Given the description of an element on the screen output the (x, y) to click on. 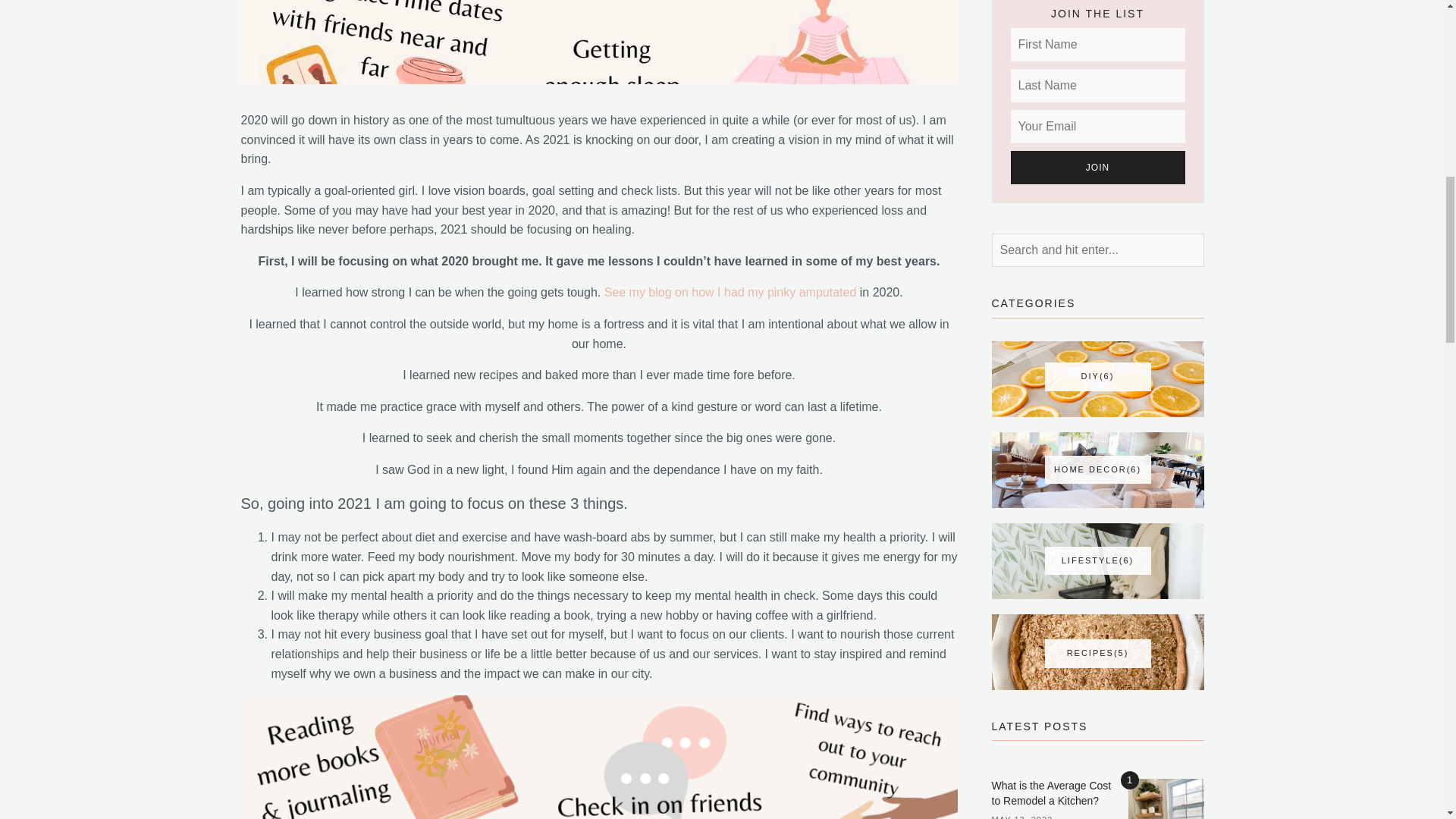
See my blog on how I had my pinky amputated (730, 291)
What is the Average Cost to Remodel a Kitchen? (1051, 792)
1 (1166, 798)
JOIN (1097, 167)
JOIN (1097, 167)
